Given the description of an element on the screen output the (x, y) to click on. 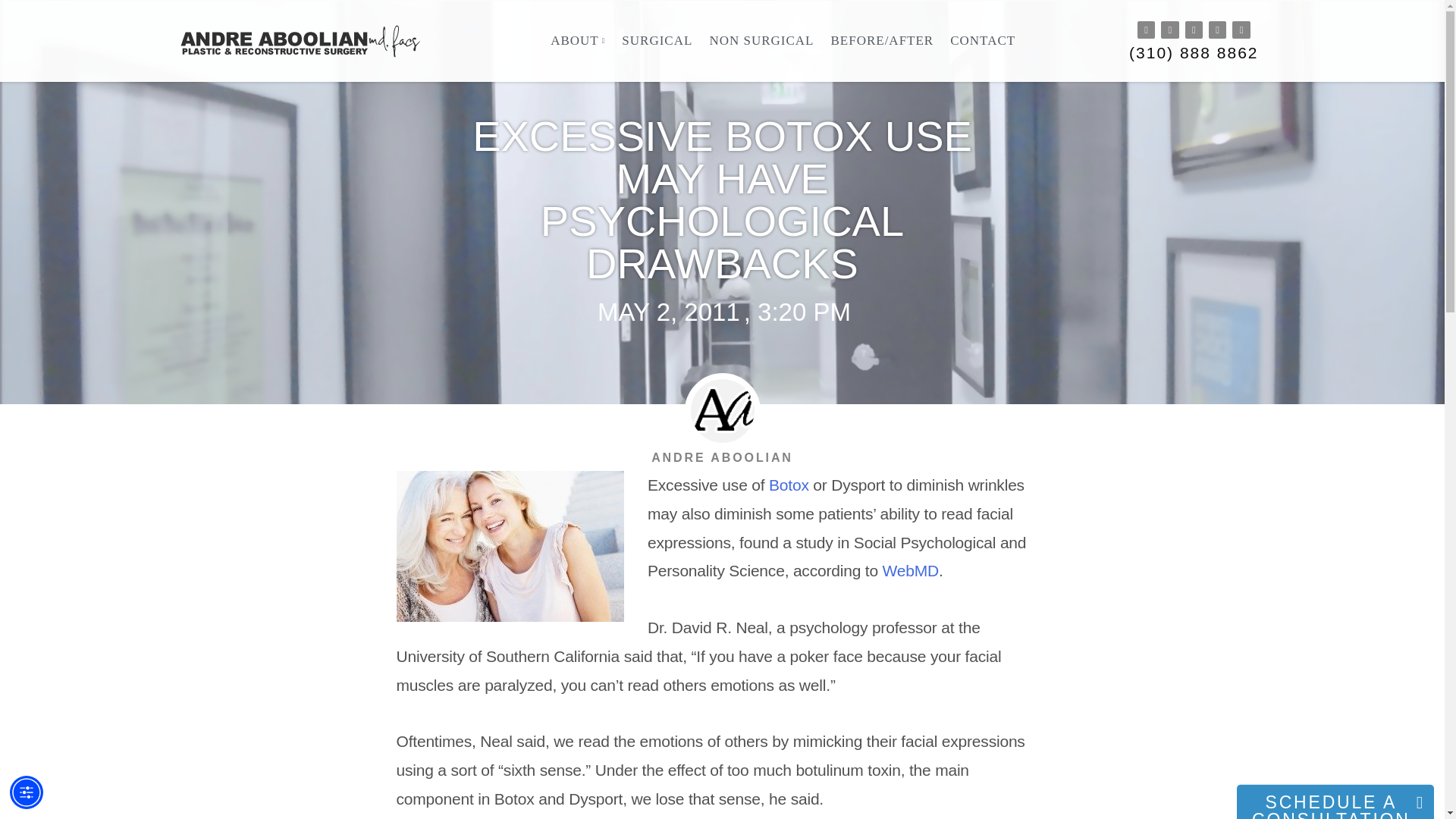
Google-plus-g (1240, 29)
CONTACT (982, 40)
NON SURGICAL (760, 40)
Youtube (1193, 29)
Accessibility Menu (26, 792)
MAY 2, 2011 (666, 311)
Botox (788, 484)
SURGICAL (657, 40)
Twitter (1216, 29)
Yelp (1168, 29)
WebMD (910, 570)
ANDRE ABOOLIAN (722, 457)
ABOUT (577, 40)
Instagram (1145, 29)
Cropped Logo For Web 1.png (306, 40)
